Given the description of an element on the screen output the (x, y) to click on. 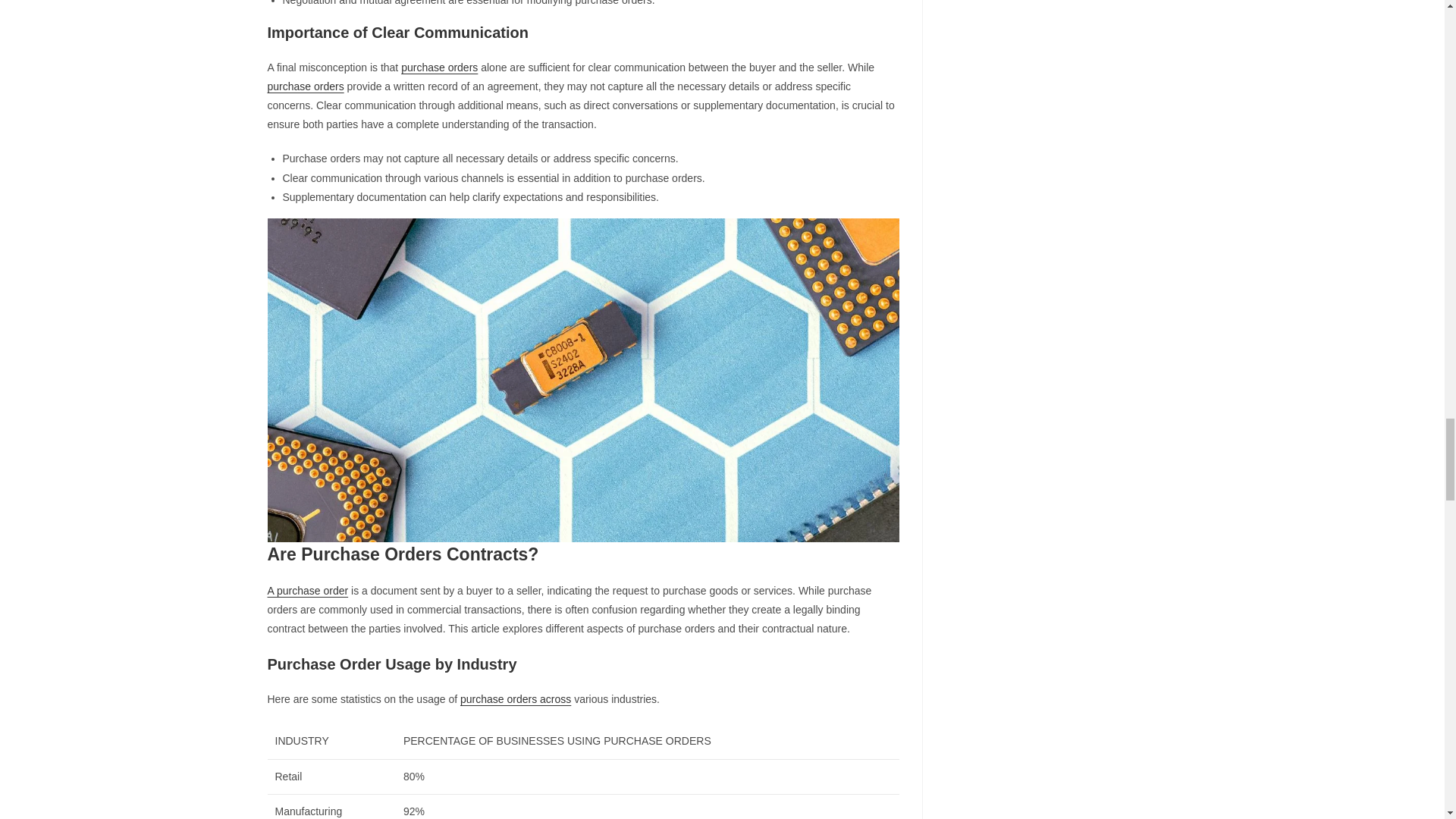
purchase orders (304, 86)
purchase orders (439, 67)
purchase orders across (515, 698)
A purchase order (306, 590)
